Given the description of an element on the screen output the (x, y) to click on. 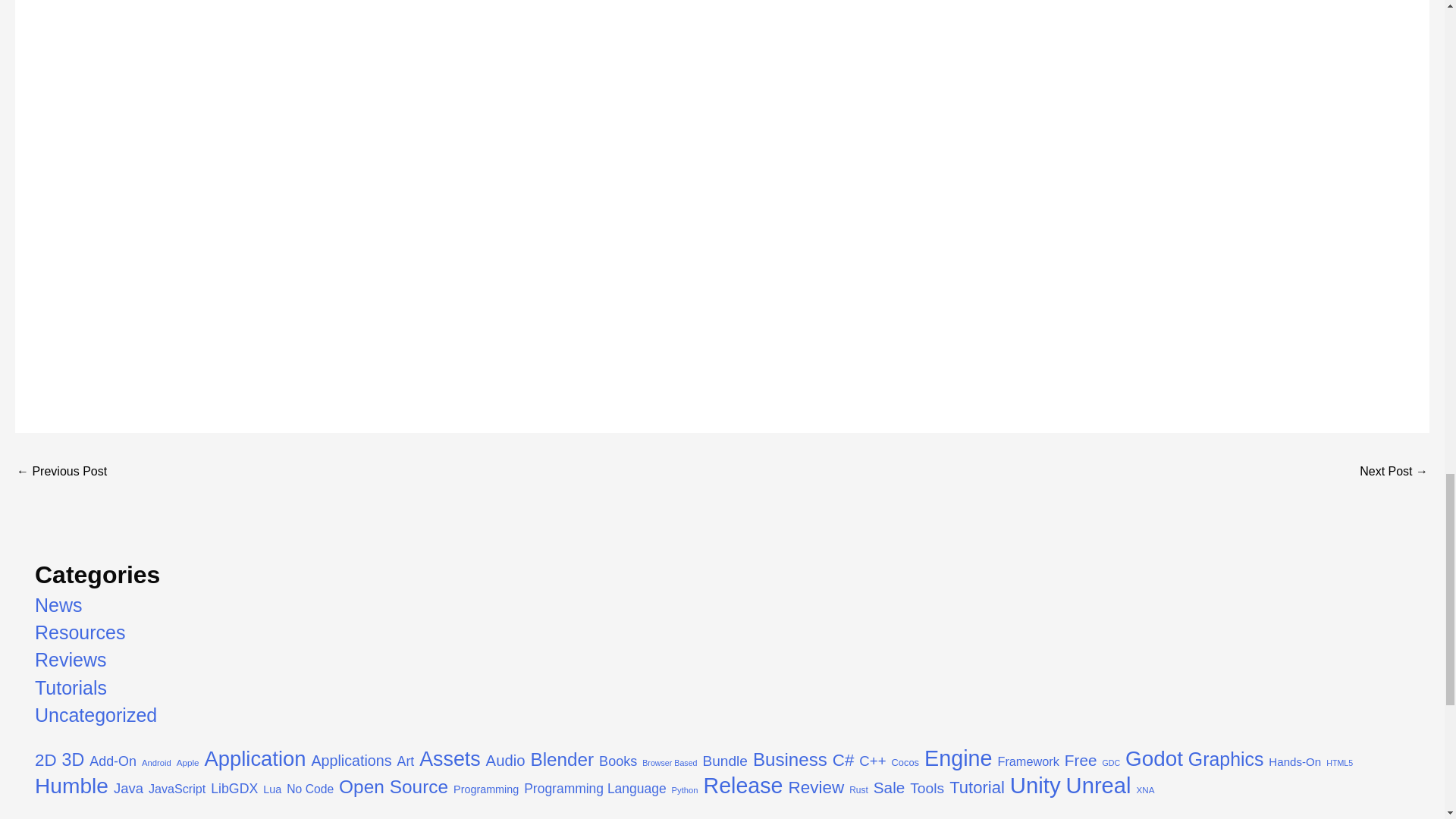
Unreal October 2023 Asset Giveaway (61, 472)
Resources (79, 631)
The Best Game Development Frameworks (1393, 472)
Tutorials (70, 687)
Reviews (70, 659)
News (58, 604)
Uncategorized (95, 714)
